Given the description of an element on the screen output the (x, y) to click on. 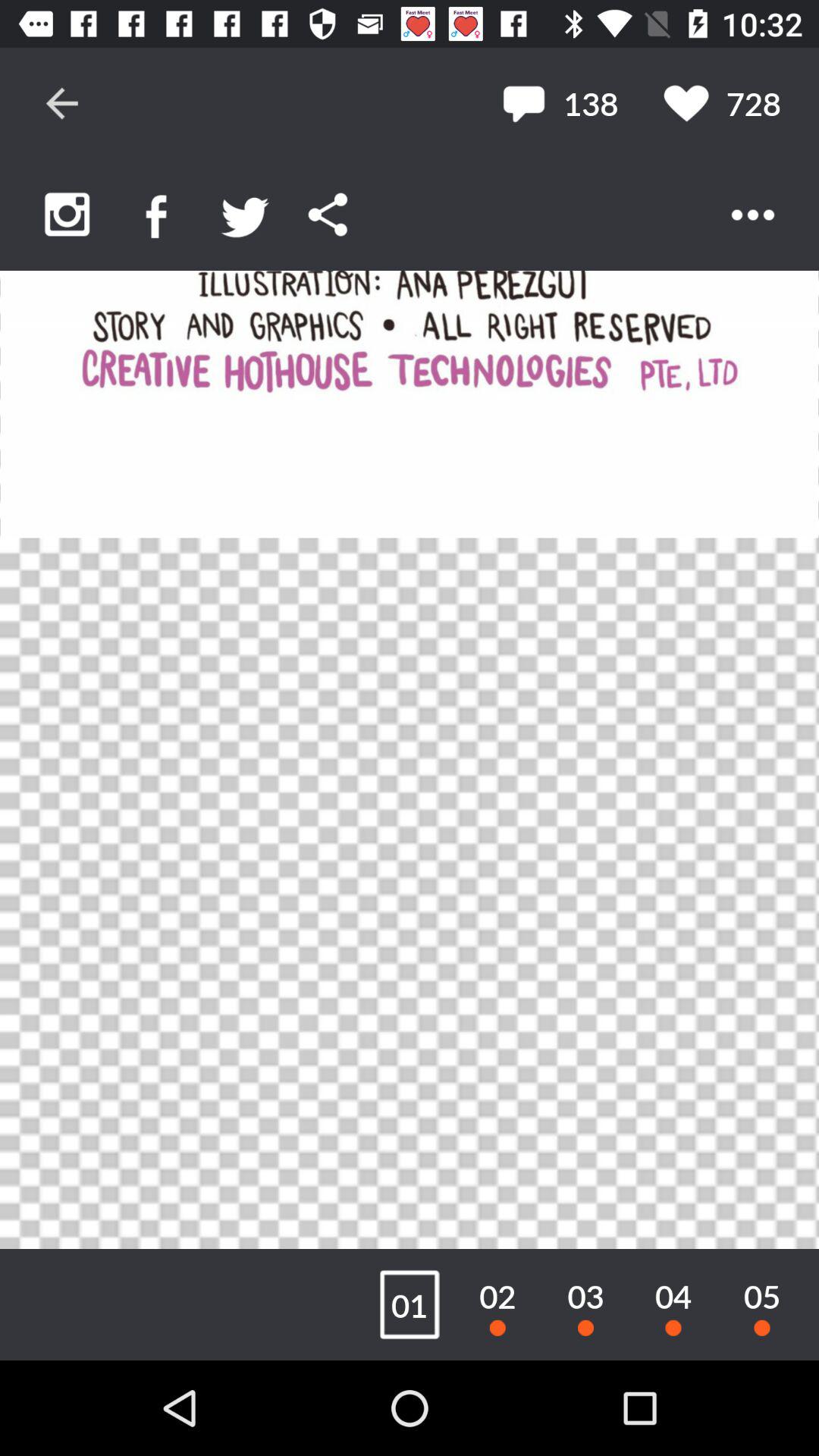
select 138 (559, 103)
